Given the description of an element on the screen output the (x, y) to click on. 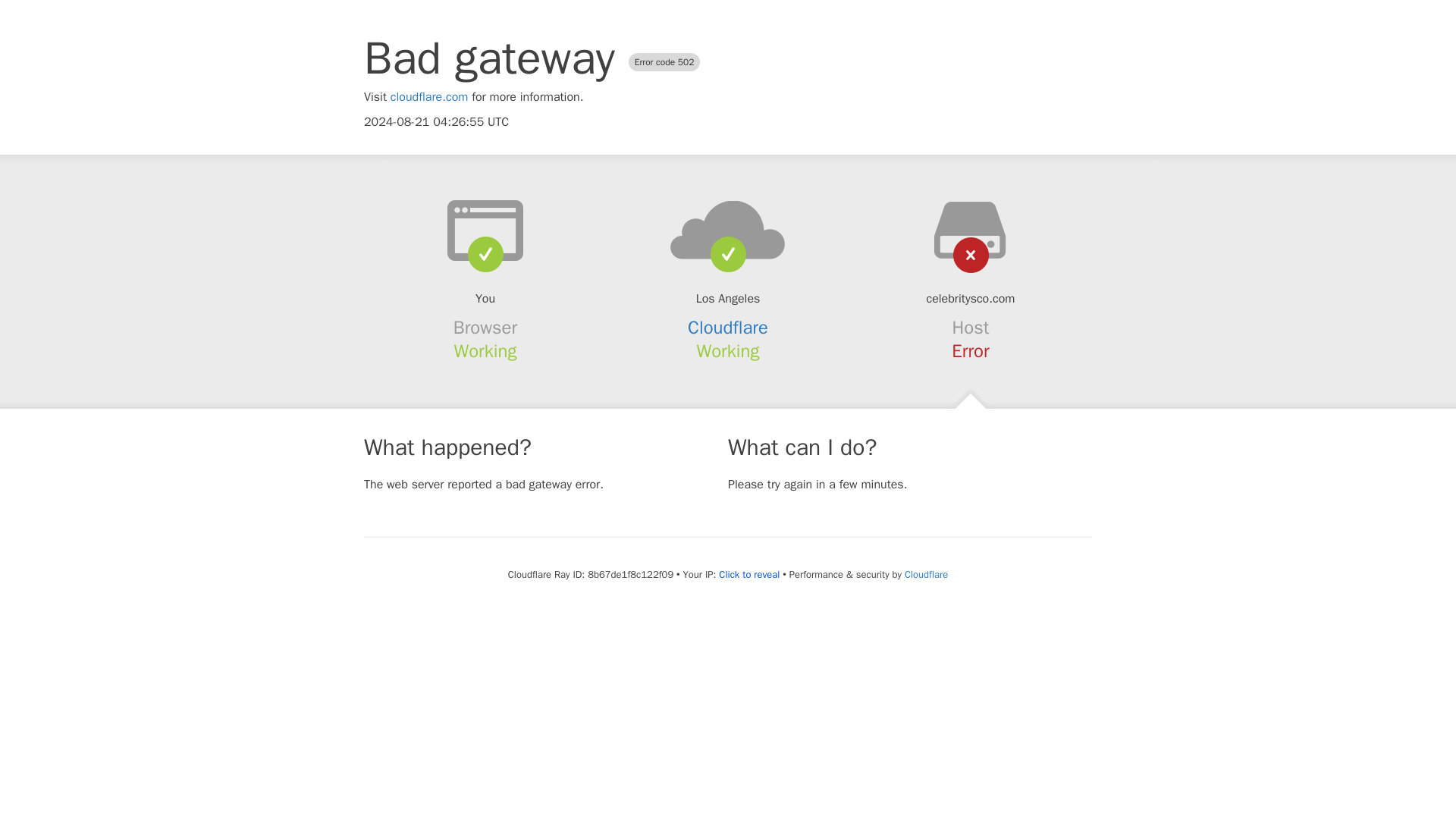
Cloudflare (727, 327)
Click to reveal (748, 574)
cloudflare.com (429, 96)
Cloudflare (925, 574)
